Given the description of an element on the screen output the (x, y) to click on. 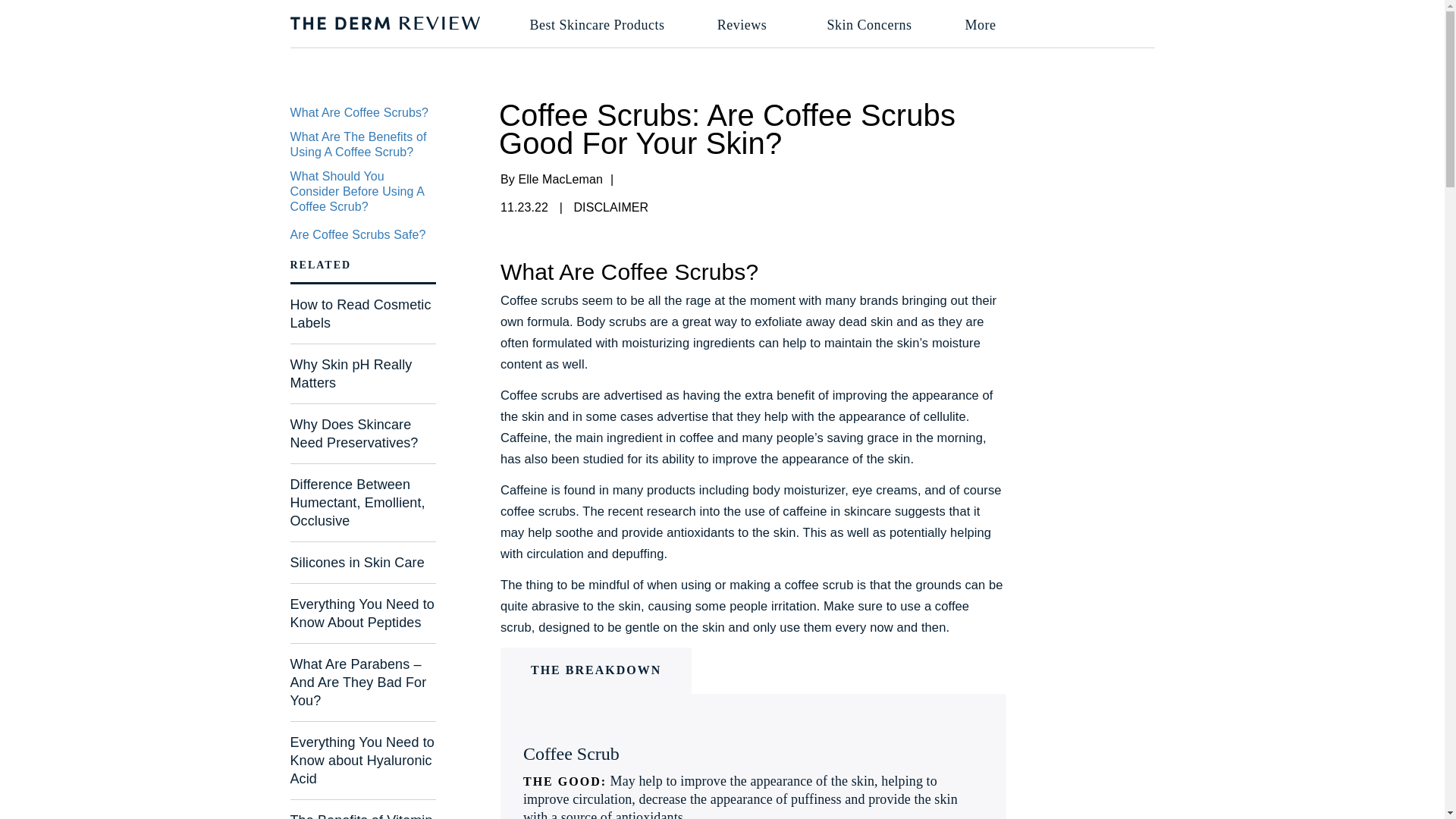
Best Skincare Products (596, 24)
